Given the description of an element on the screen output the (x, y) to click on. 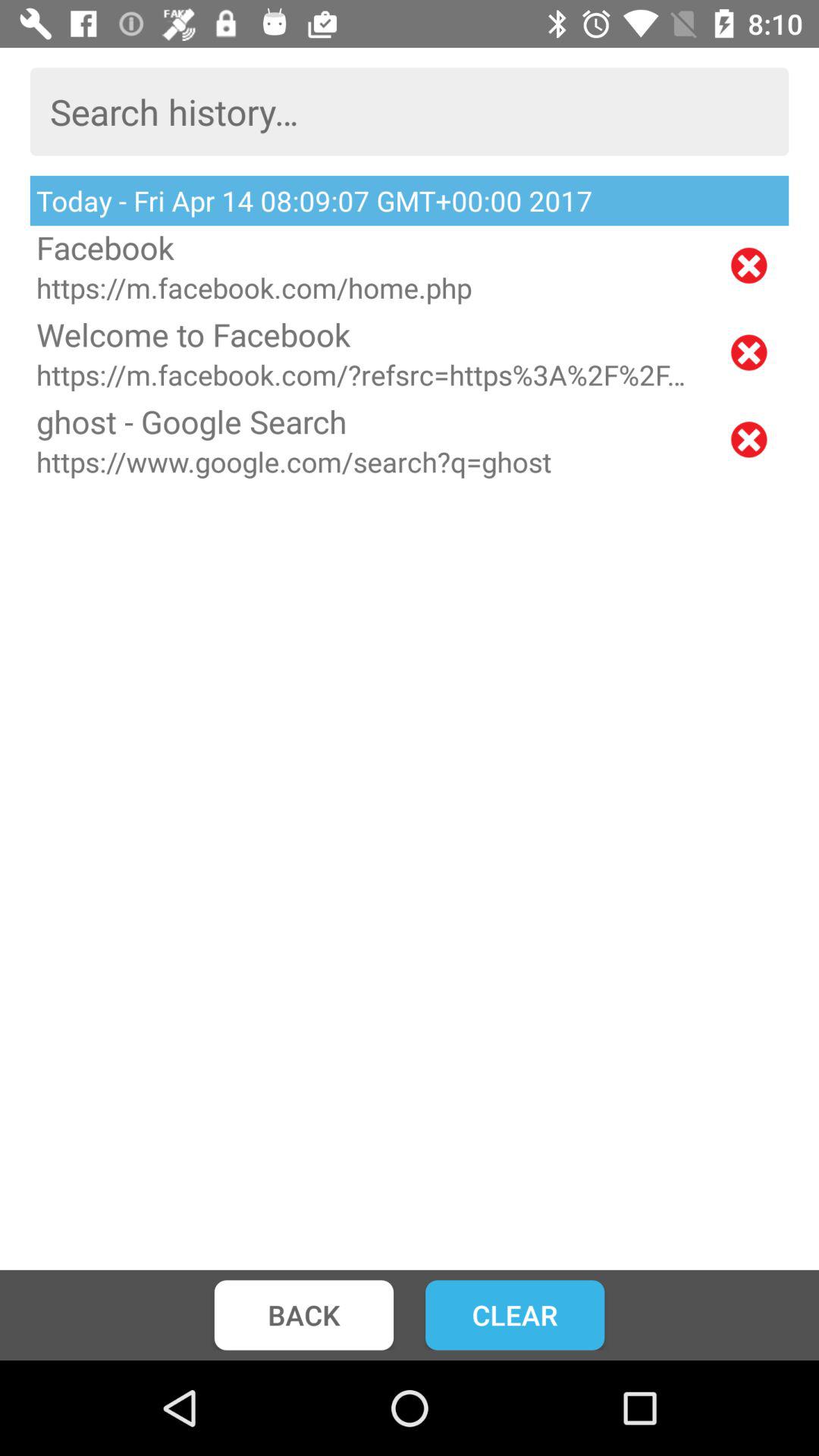
delete search (748, 352)
